Given the description of an element on the screen output the (x, y) to click on. 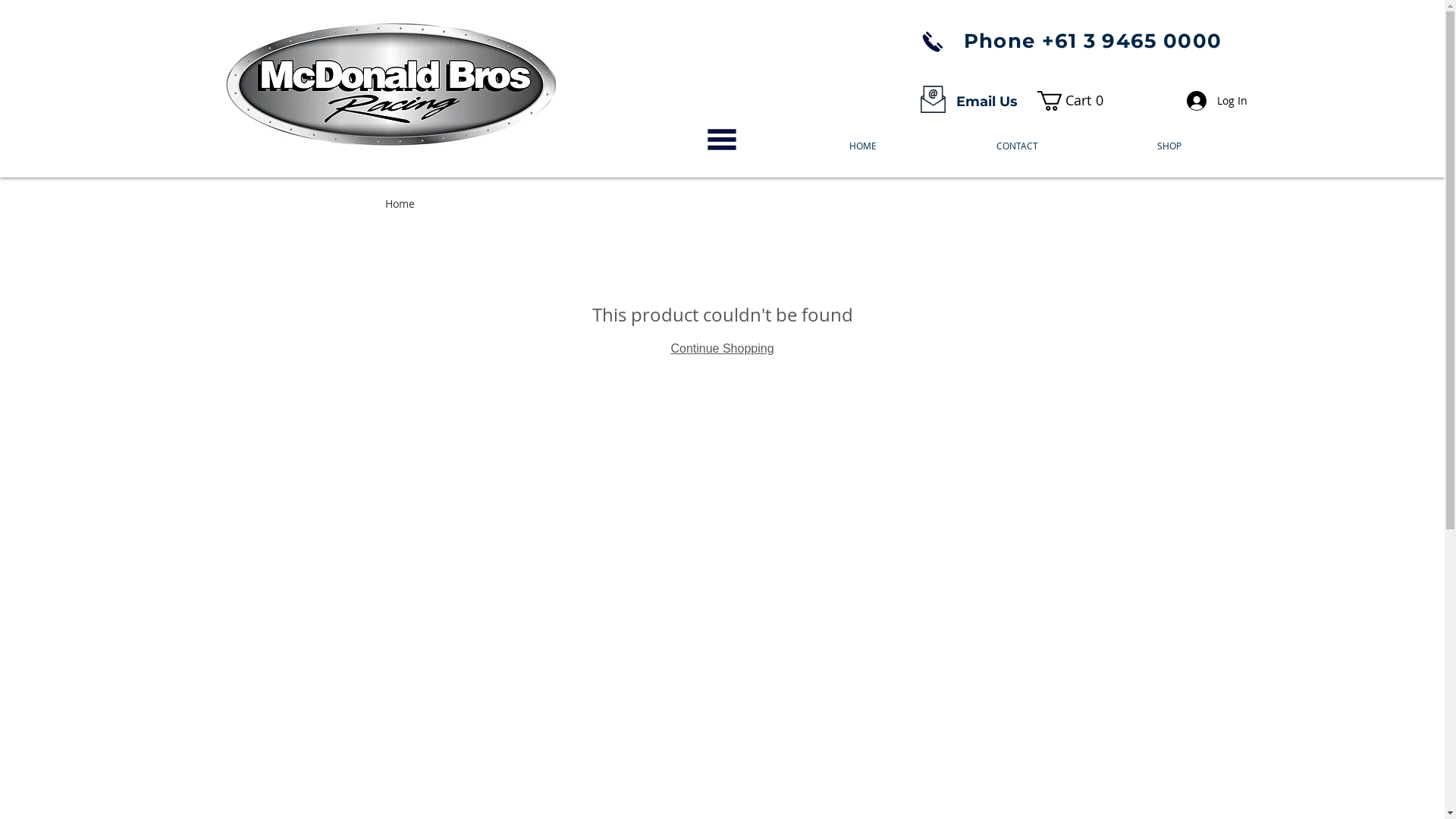
LOGO.jpg Element type: hover (390, 85)
Continue Shopping Element type: text (721, 348)
SHOP Element type: text (1169, 145)
HOME Element type: text (861, 145)
Log In Element type: text (1216, 100)
CONTACT Element type: text (1016, 145)
Home Element type: text (399, 203)
Email Us  Element type: text (987, 101)
Cart
0 Element type: text (1074, 100)
